Given the description of an element on the screen output the (x, y) to click on. 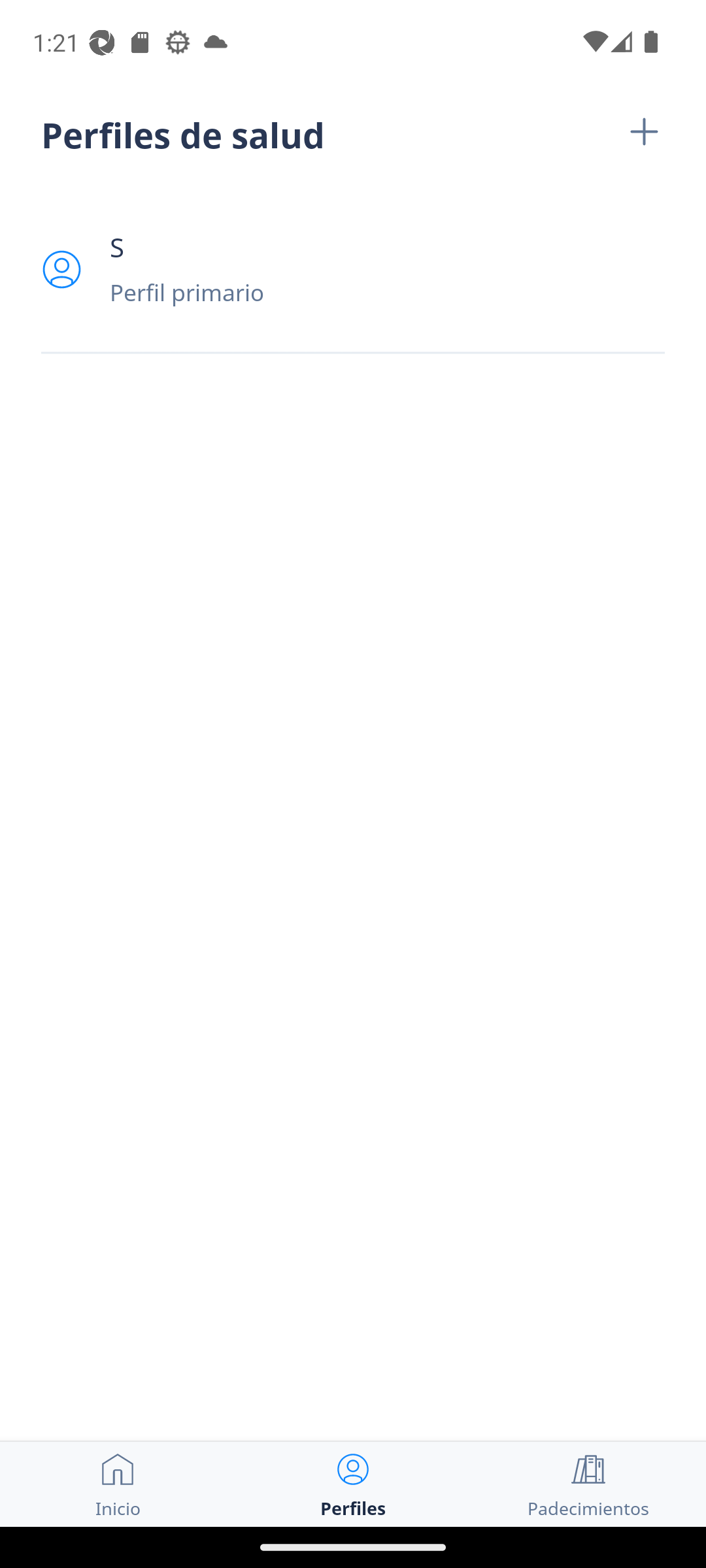
S Perfil primario (352, 269)
Inicio (117, 1484)
Perfiles (352, 1484)
Padecimientos (588, 1484)
